Given the description of an element on the screen output the (x, y) to click on. 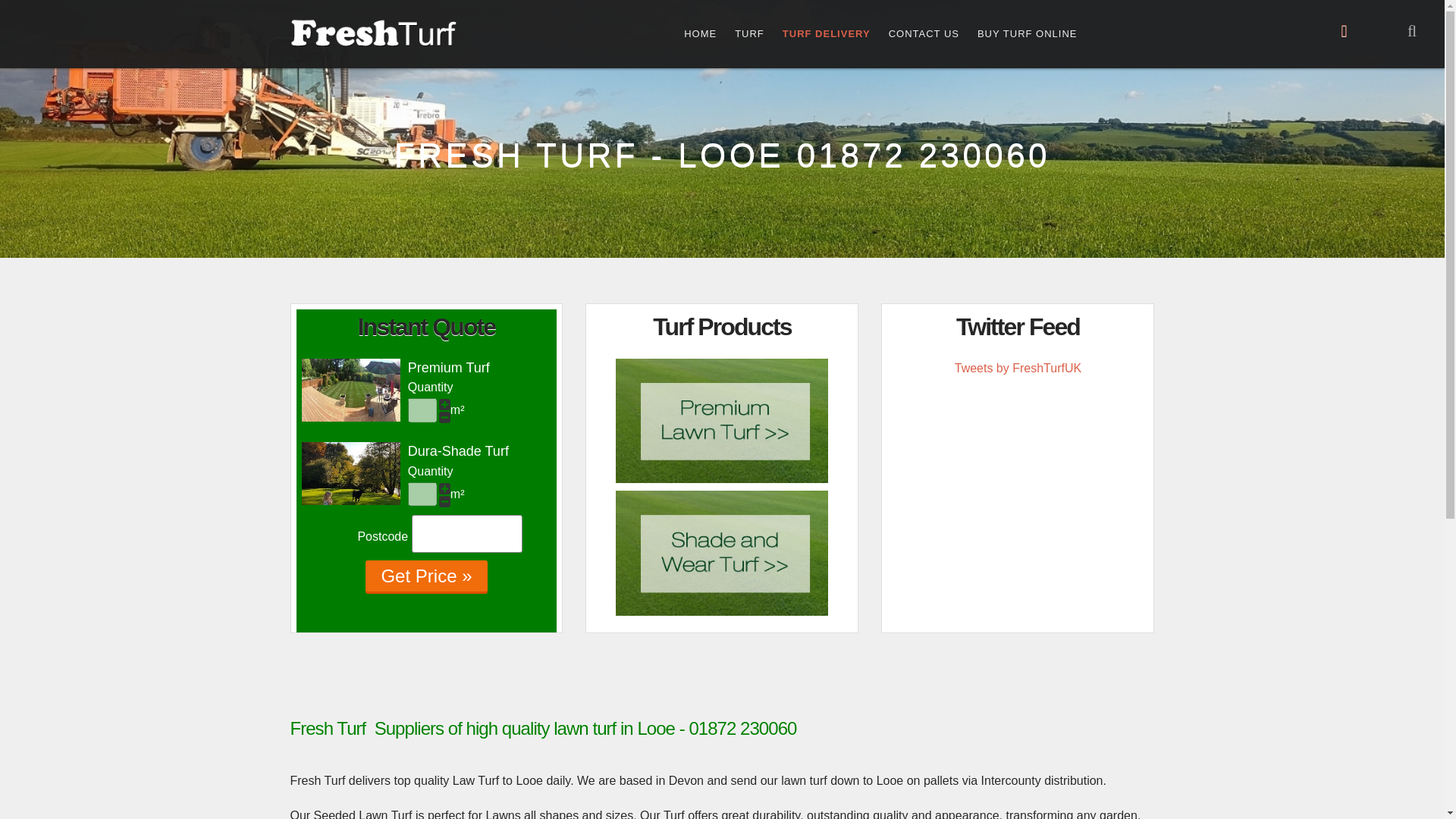
Tweets by FreshTurfUK (1018, 367)
Fresh Turf (373, 33)
CONTACT US (923, 33)
BUY TURF ONLINE (1027, 33)
TURF DELIVERY (826, 33)
